Given the description of an element on the screen output the (x, y) to click on. 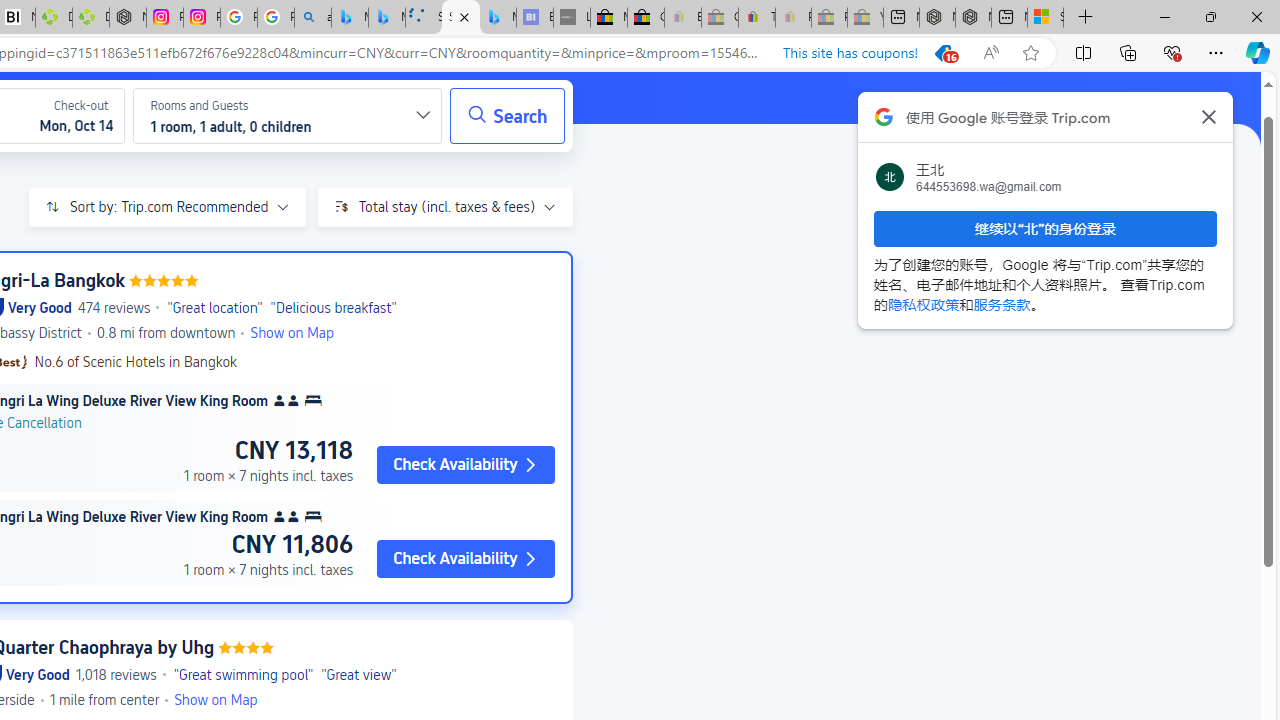
alabama high school quarterback dies - Search (312, 17)
1,018 reviews (116, 673)
474 reviews (113, 307)
Microsoft Bing Travel - Flights from Hong Kong to Bangkok (349, 17)
Nordace - Nordace Edin Collection (127, 17)
Threats and offensive language policy | eBay (756, 17)
